Given the description of an element on the screen output the (x, y) to click on. 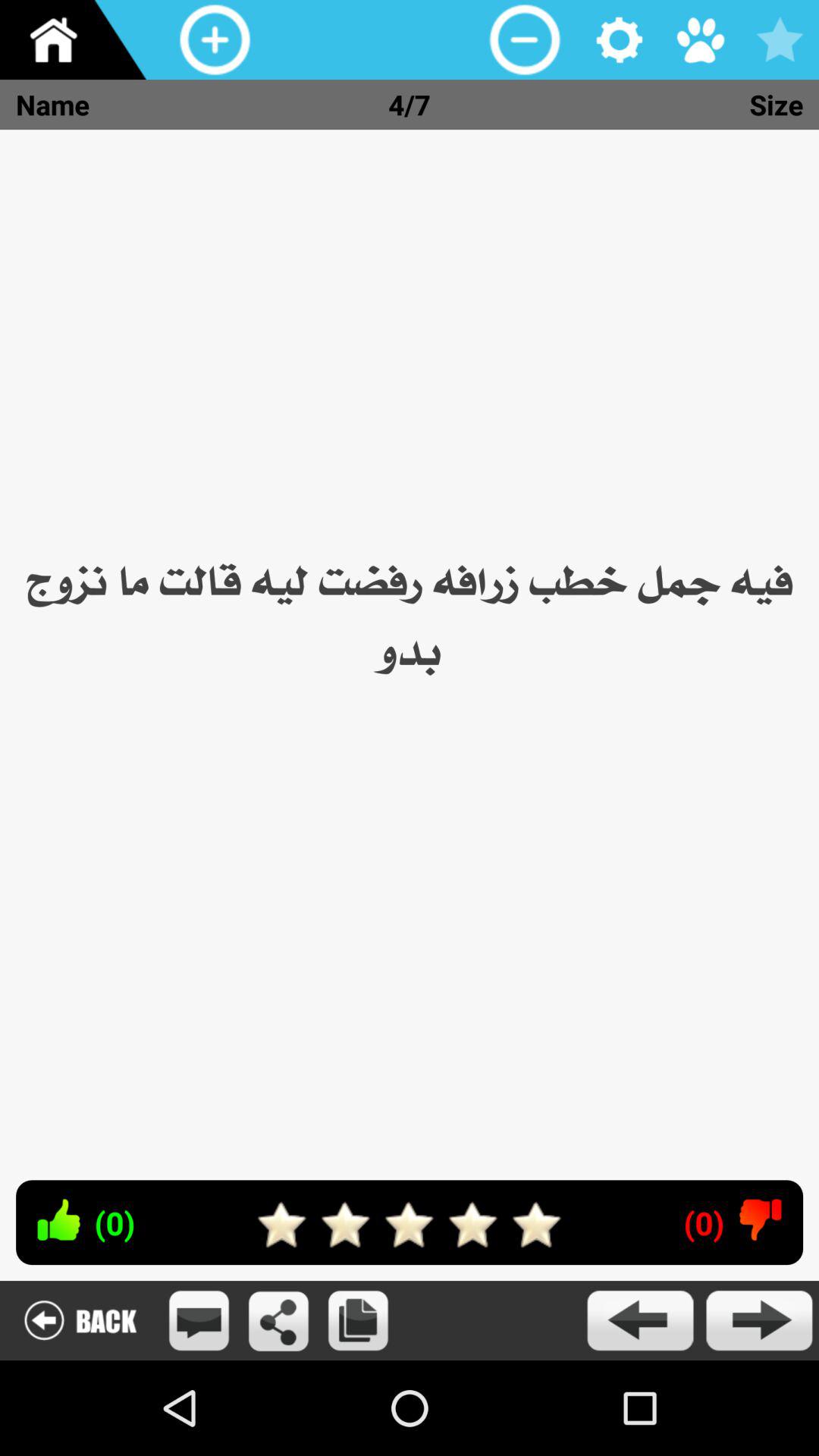
click item below the name (409, 646)
